Given the description of an element on the screen output the (x, y) to click on. 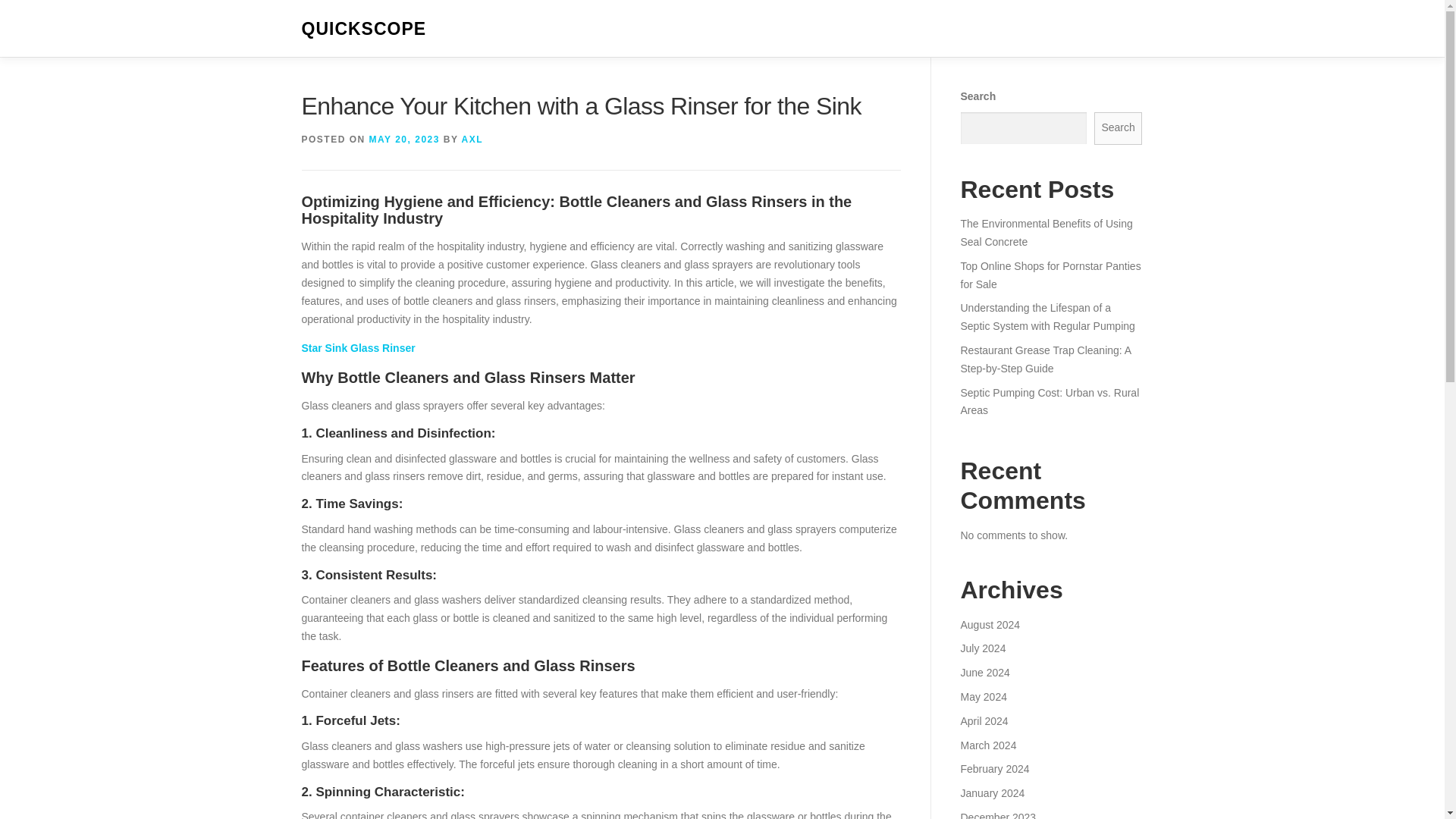
QUICKSCOPE (363, 29)
MAY 20, 2023 (404, 139)
May 2024 (982, 696)
August 2024 (989, 624)
December 2023 (997, 815)
The Environmental Benefits of Using Seal Concrete (1045, 232)
AXL (472, 139)
Restaurant Grease Trap Cleaning: A Step-by-Step Guide (1045, 358)
Search (1118, 128)
